Given the description of an element on the screen output the (x, y) to click on. 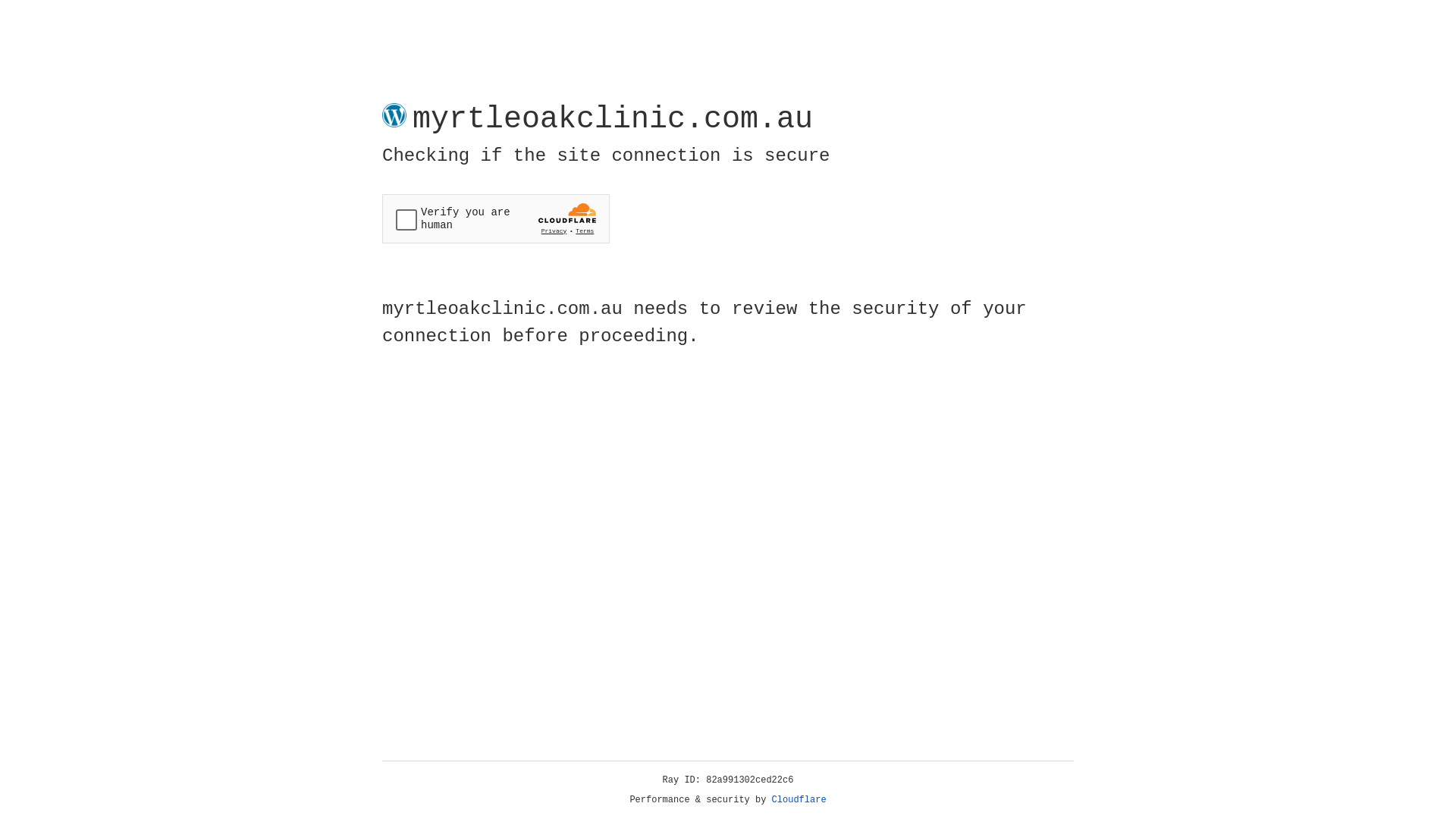
Cloudflare Element type: text (798, 799)
Widget containing a Cloudflare security challenge Element type: hover (495, 218)
